Given the description of an element on the screen output the (x, y) to click on. 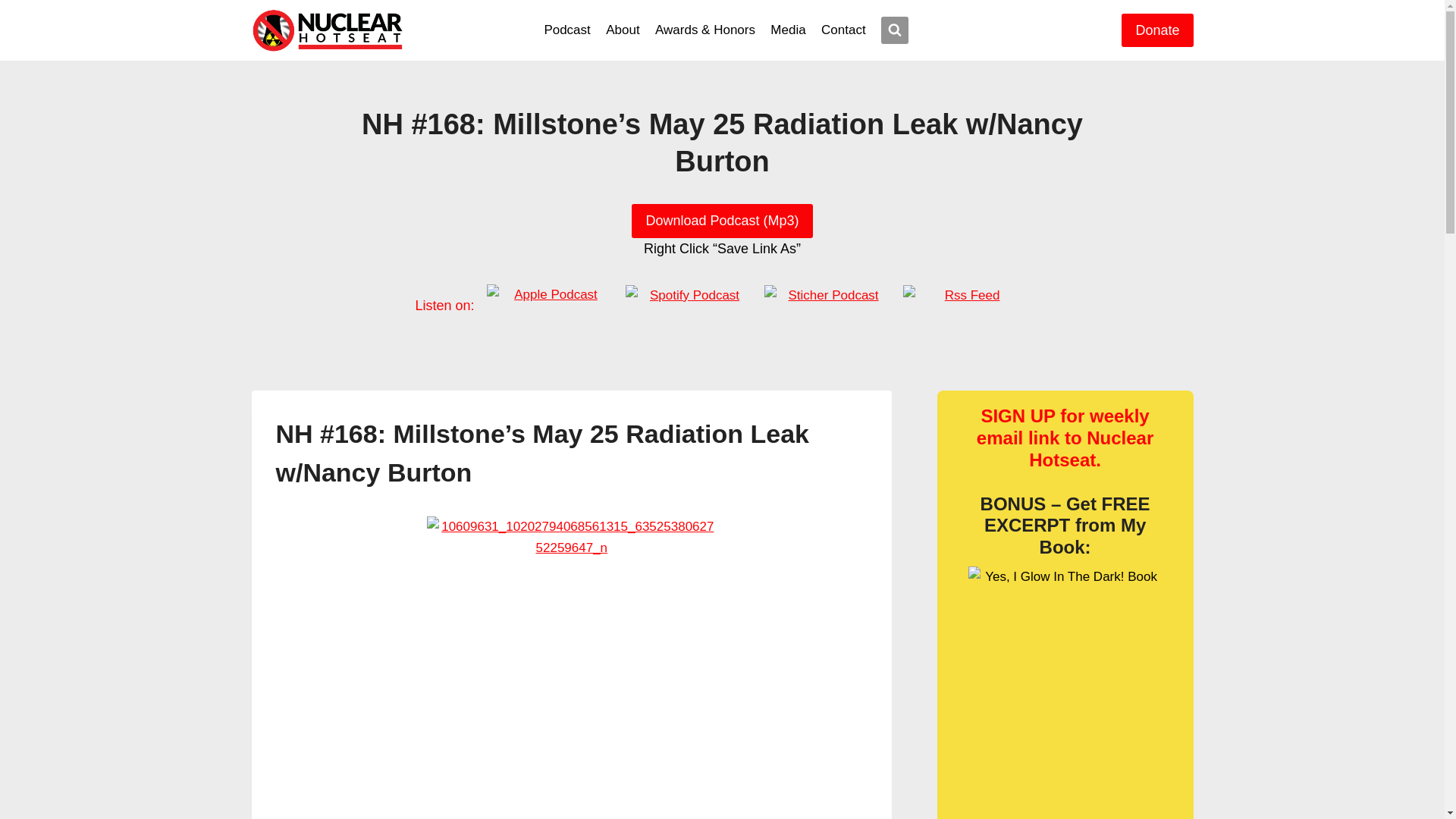
Podcast (566, 30)
Media (787, 30)
Contact (843, 30)
About (622, 30)
Donate (1156, 29)
